Given the description of an element on the screen output the (x, y) to click on. 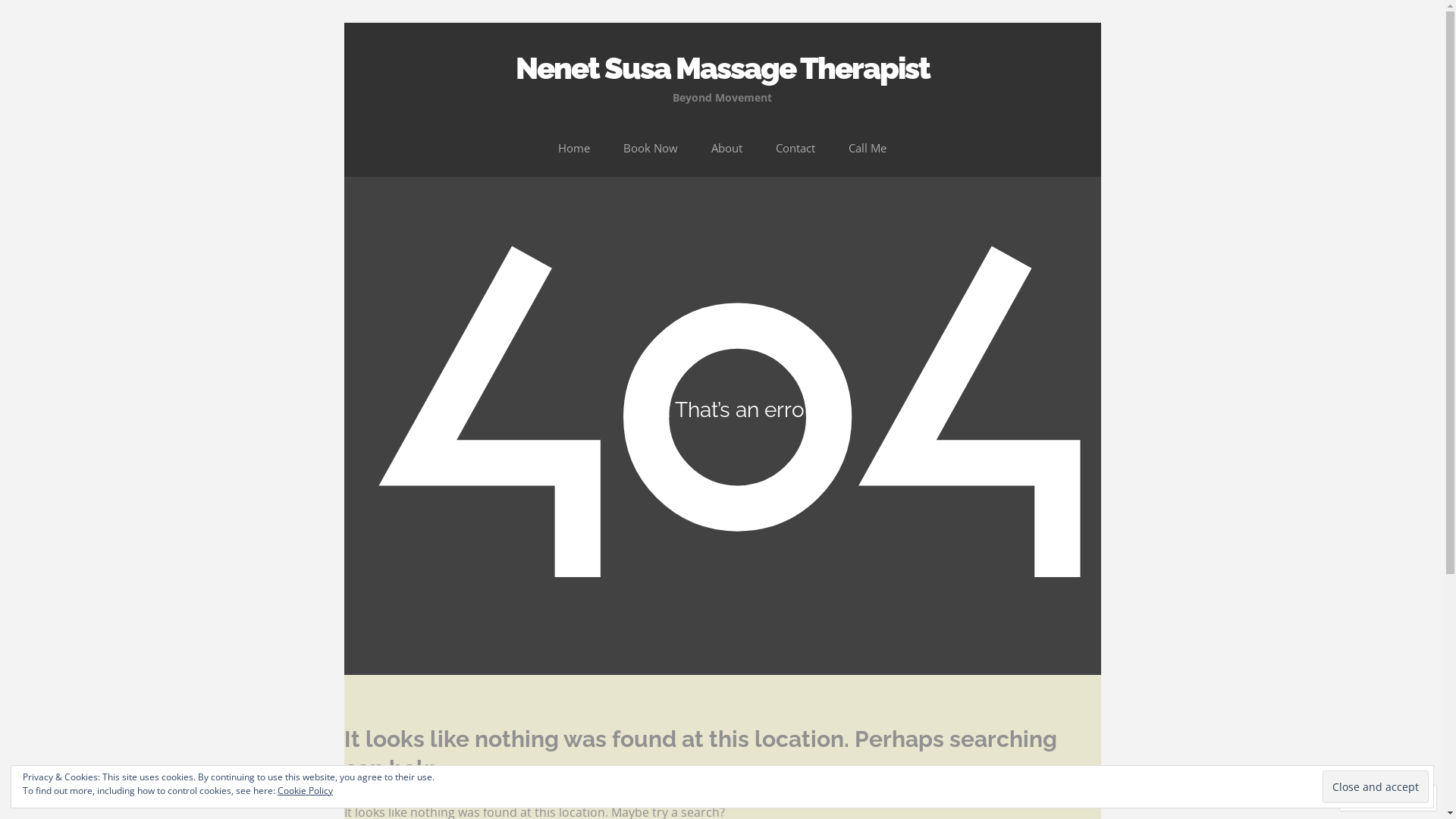
Cookie Policy Element type: text (304, 790)
Nenet Susa Massage Therapist
Beyond Movement Element type: text (722, 70)
About Element type: text (726, 148)
Search Element type: text (32, 16)
Follow Element type: text (1373, 797)
Contact Element type: text (795, 148)
Call Me Element type: text (867, 148)
Book Now Element type: text (650, 148)
Home Element type: text (573, 148)
Close and accept Element type: text (1375, 786)
